Given the description of an element on the screen output the (x, y) to click on. 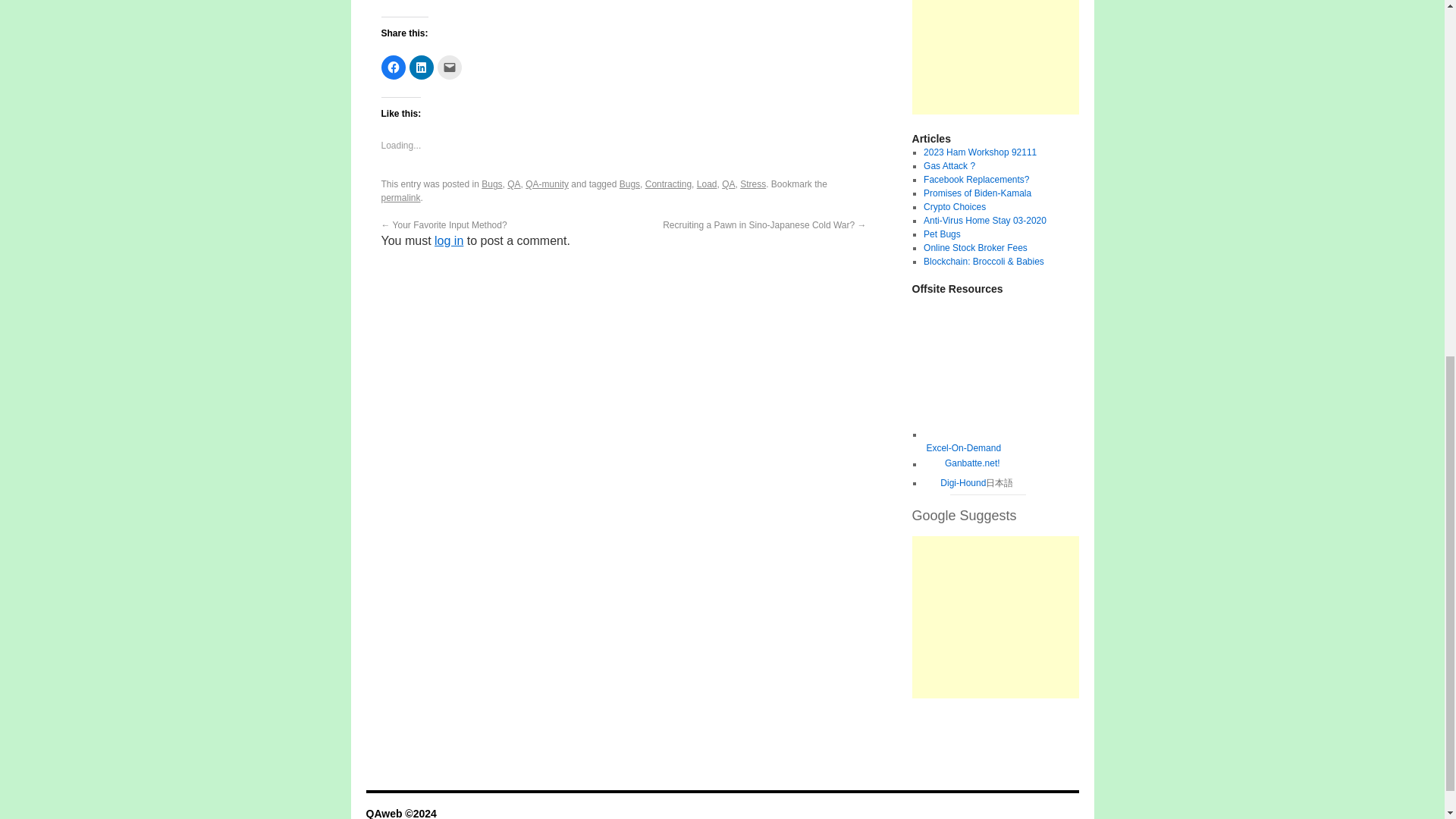
Load (707, 184)
Contracting (668, 184)
QA (512, 184)
Bugs (630, 184)
log in (448, 240)
Bugs (491, 184)
Click to email a link to a friend (448, 67)
Click to share on Facebook (392, 67)
QA-munity (547, 184)
Click to share on LinkedIn (421, 67)
